Given the description of an element on the screen output the (x, y) to click on. 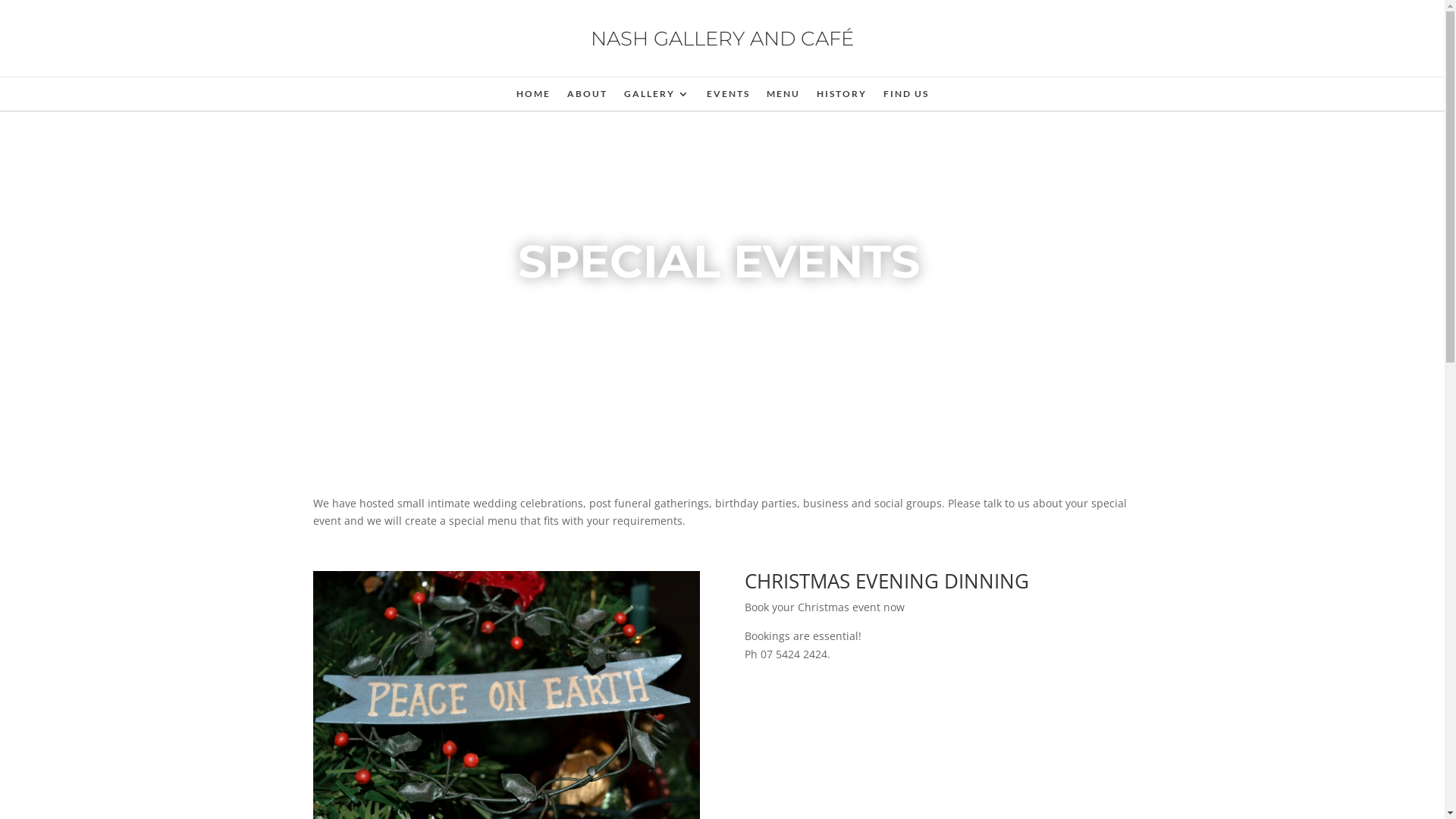
FIND US Element type: text (905, 96)
HISTORY Element type: text (840, 96)
ABOUT Element type: text (587, 96)
HOME Element type: text (532, 96)
GALLERY Element type: text (656, 96)
EVENTS Element type: text (727, 96)
MENU Element type: text (782, 96)
